Given the description of an element on the screen output the (x, y) to click on. 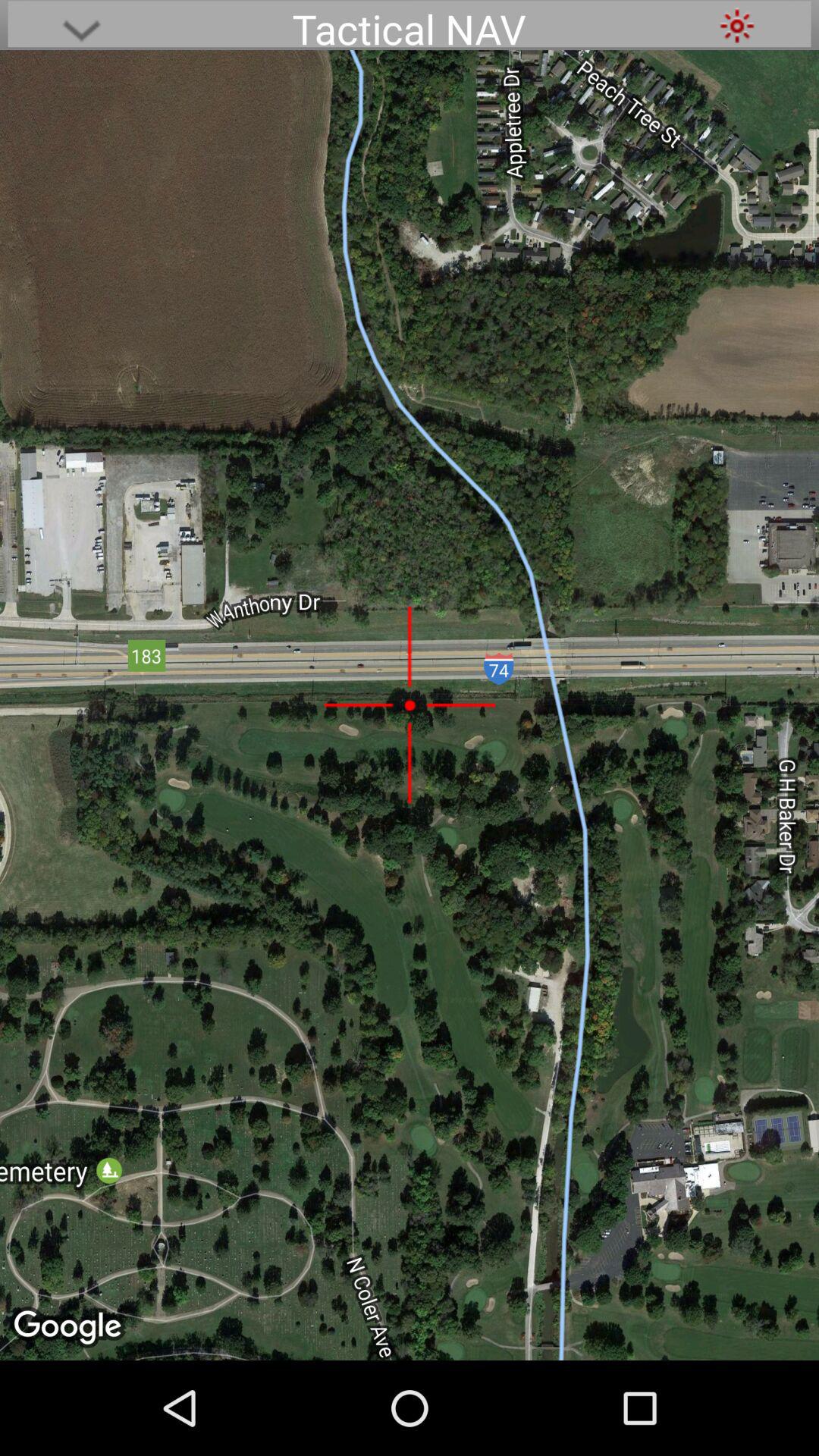
tap for more option (81, 25)
